Given the description of an element on the screen output the (x, y) to click on. 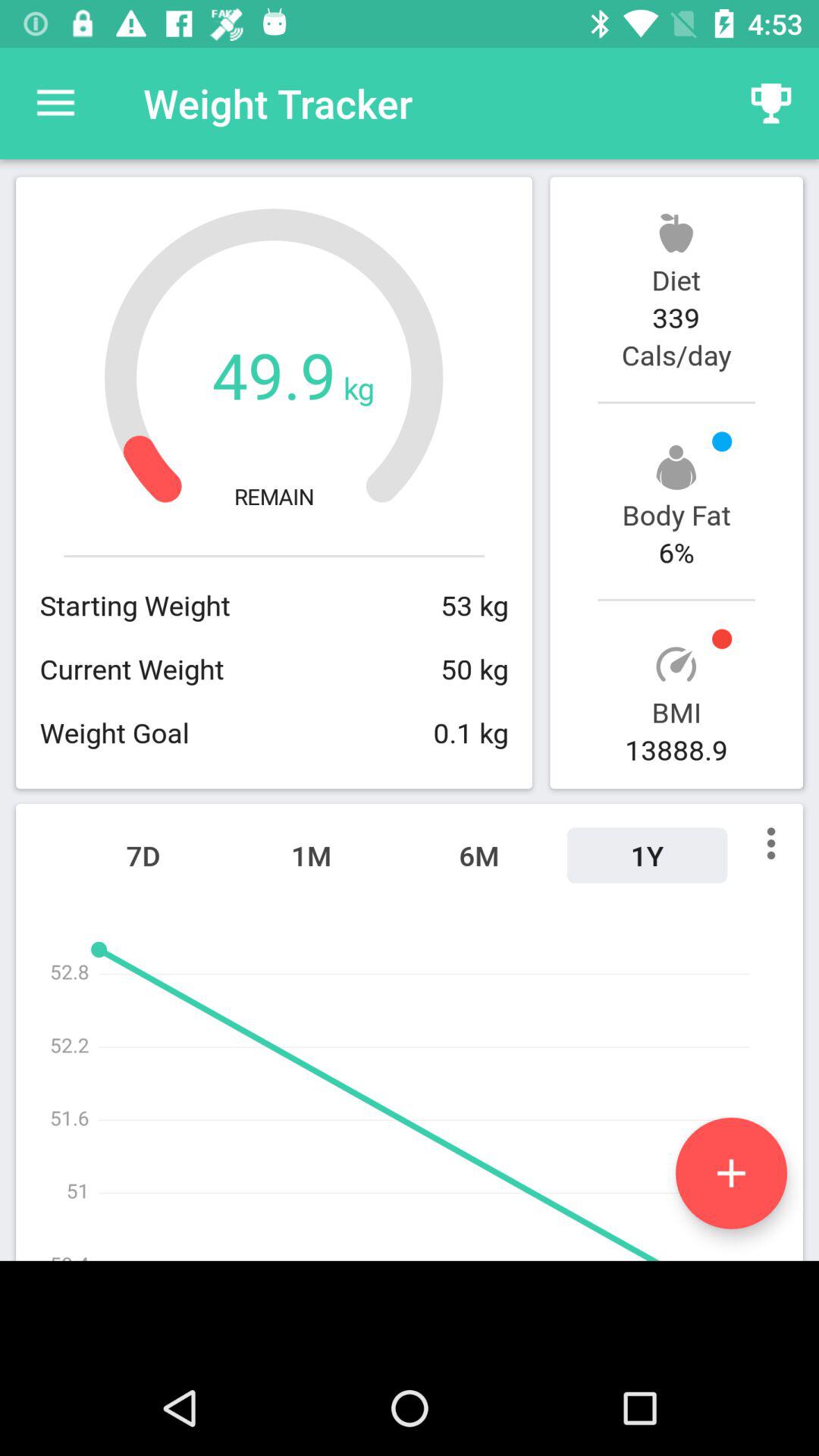
add option (731, 1173)
